Given the description of an element on the screen output the (x, y) to click on. 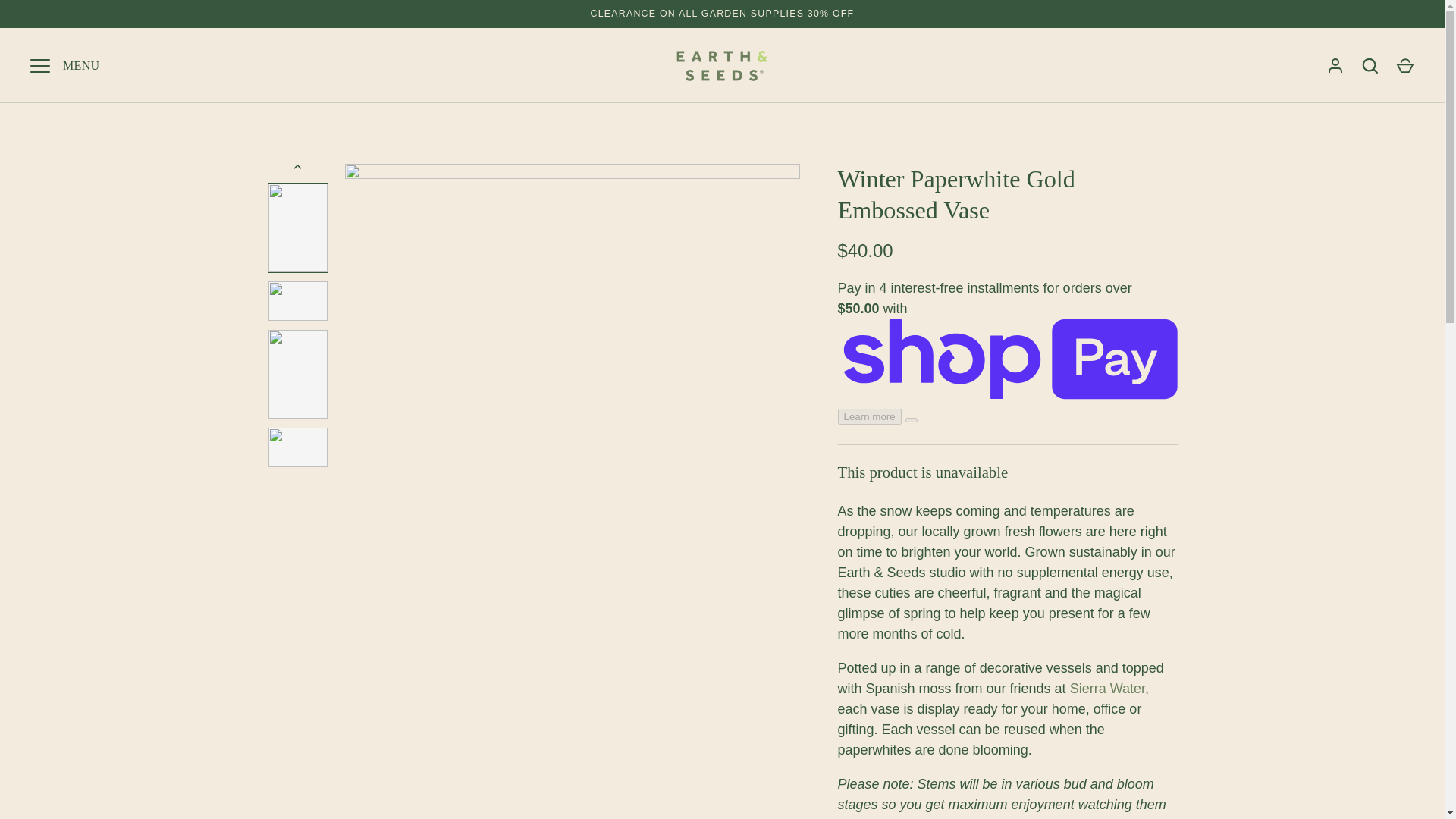
Sierra Water (1107, 688)
MENU (39, 65)
